Given the description of an element on the screen output the (x, y) to click on. 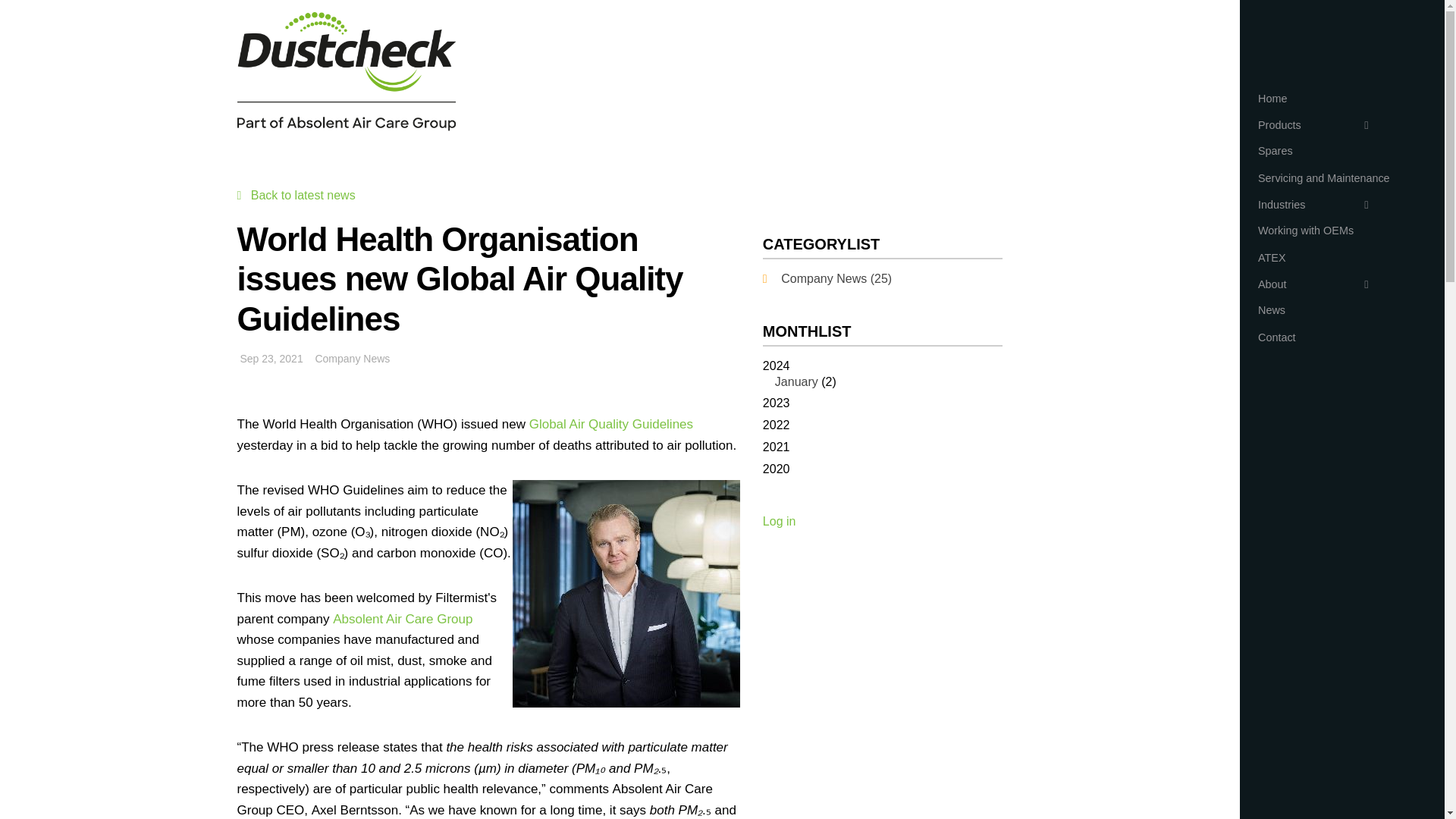
Back to latest news (302, 195)
Category: Company News (835, 278)
January (796, 381)
Global Air Quality Guidelines (611, 423)
Company News (352, 358)
Absolent Air Care Group (402, 618)
